Given the description of an element on the screen output the (x, y) to click on. 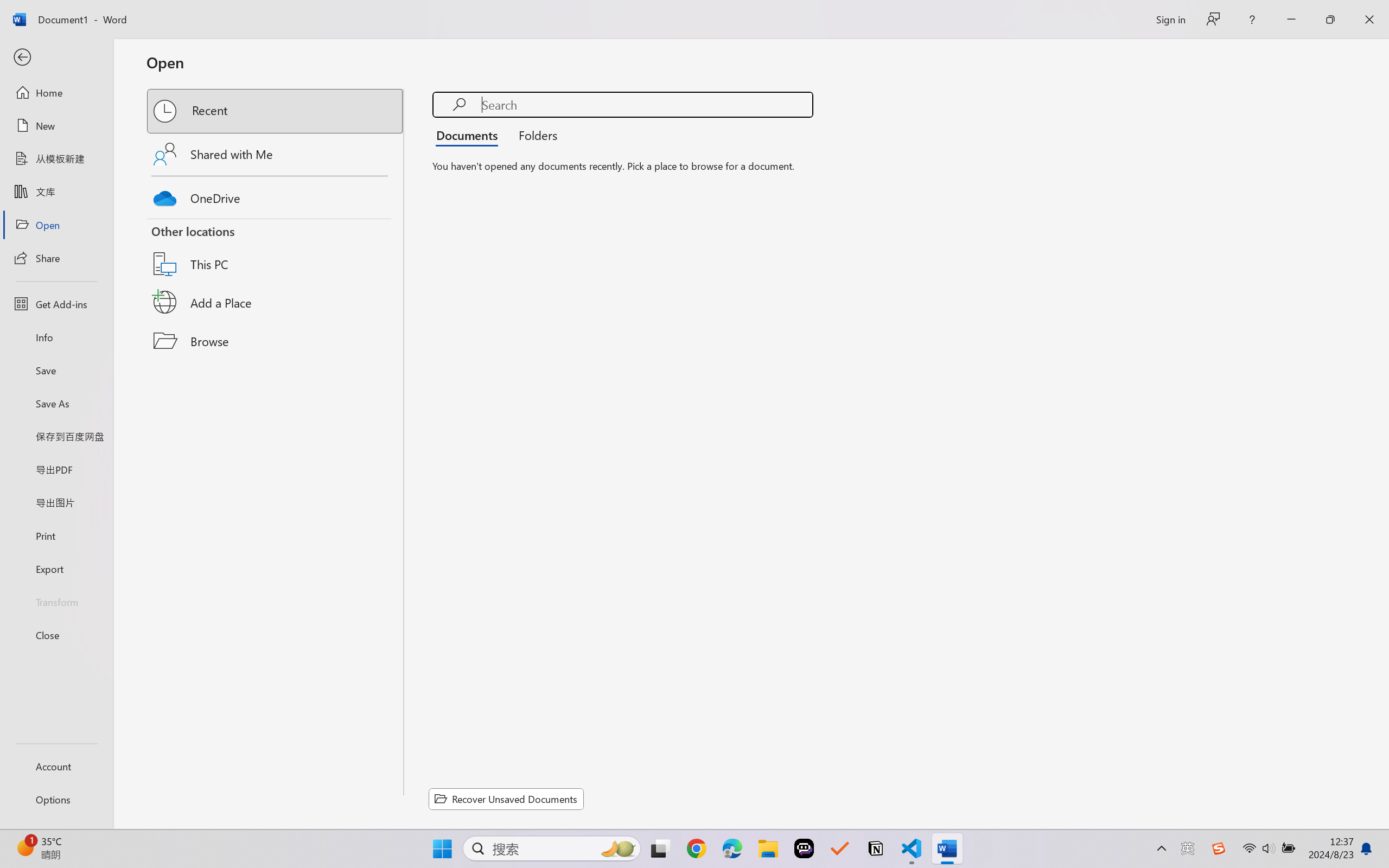
Info (56, 337)
Browse (275, 340)
Save As (56, 403)
Get Add-ins (56, 303)
Account (56, 765)
This PC (275, 249)
